Given the description of an element on the screen output the (x, y) to click on. 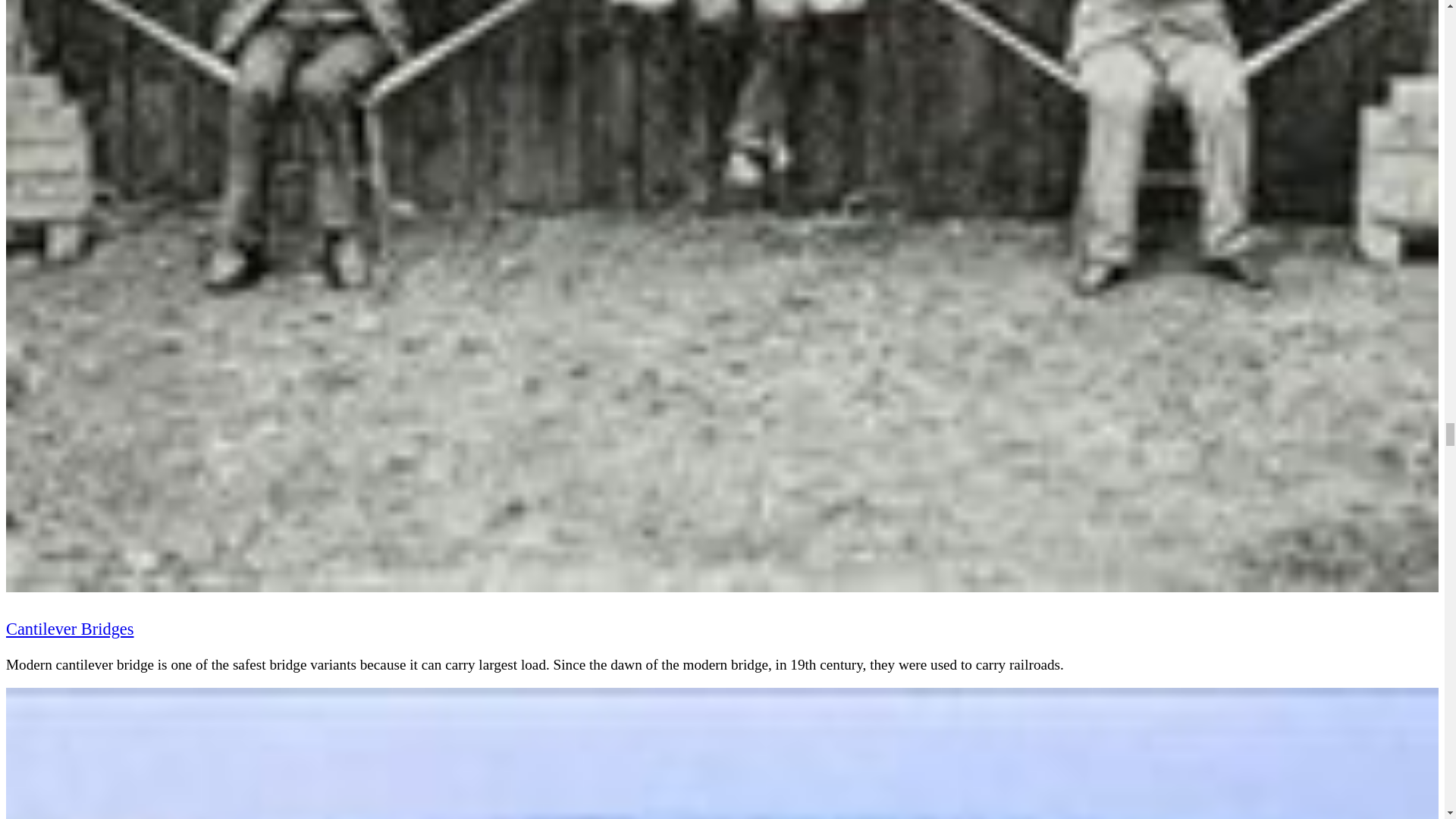
Cantilever Bridges (69, 628)
